Given the description of an element on the screen output the (x, y) to click on. 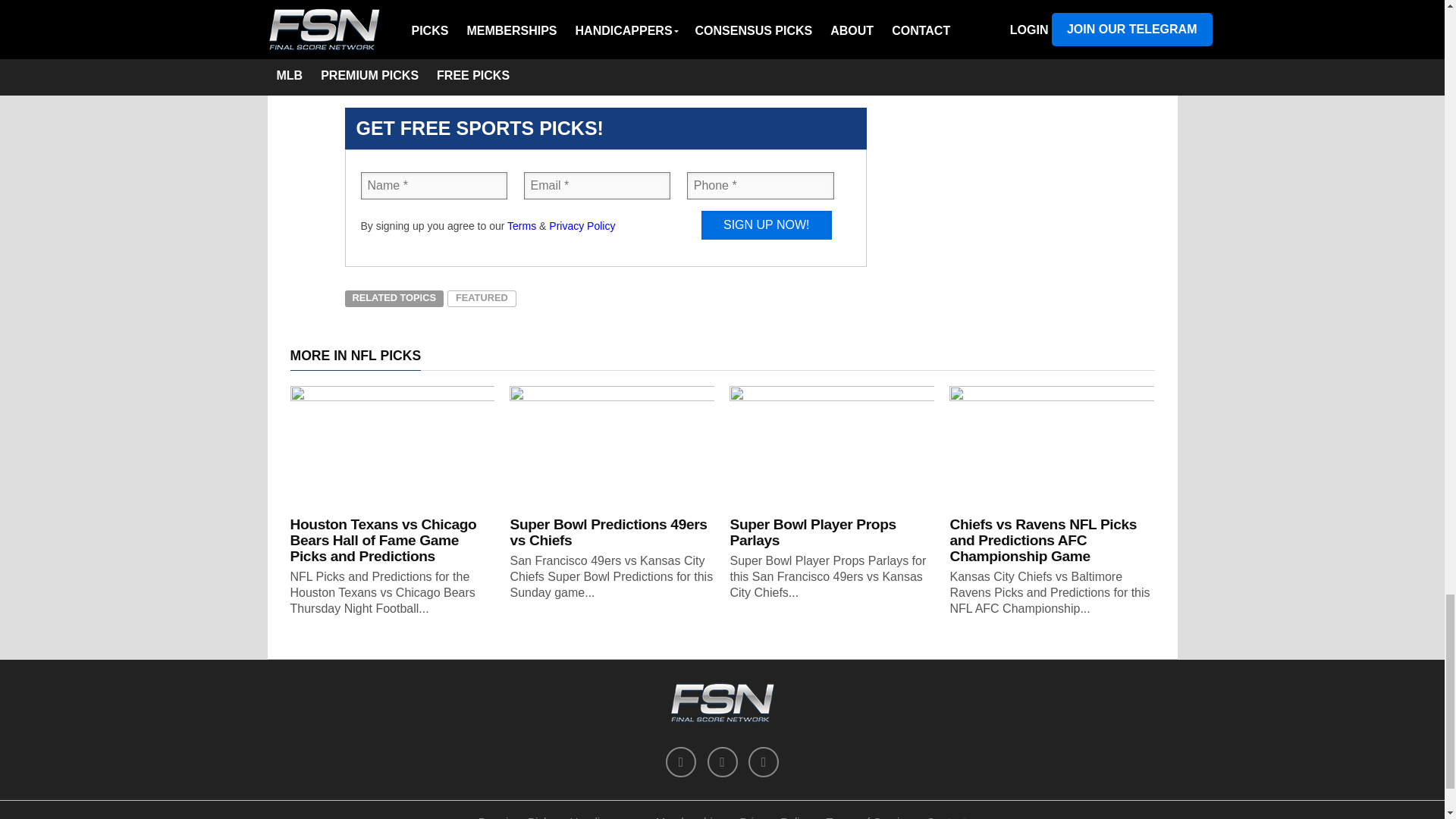
SIGN UP NOW! (766, 224)
